Given the description of an element on the screen output the (x, y) to click on. 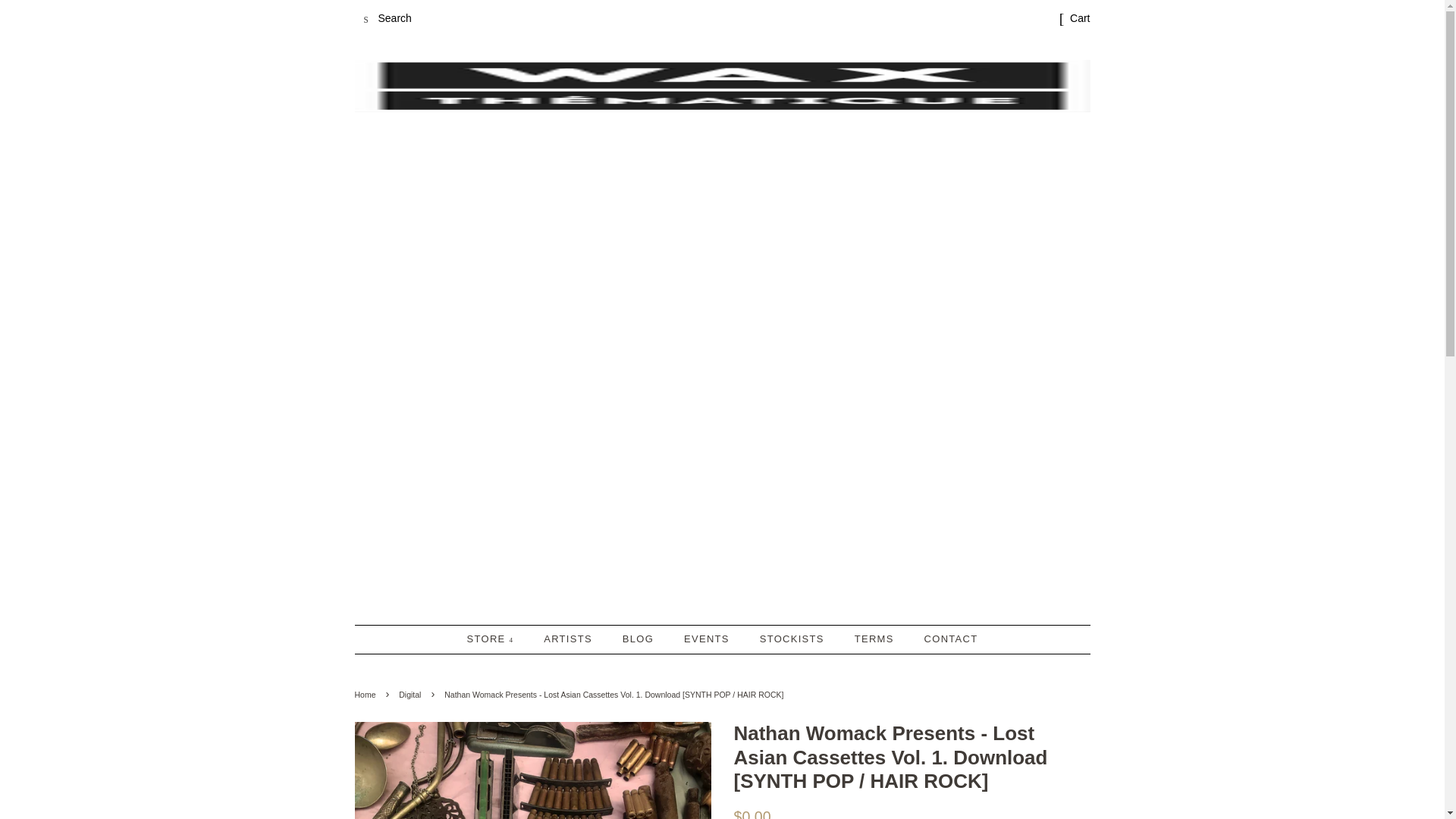
SEARCH (366, 18)
Digital (411, 694)
ARTISTS (569, 638)
CONTACT (945, 638)
Home (367, 694)
Back to the frontpage (367, 694)
TERMS (875, 638)
EVENTS (708, 638)
BLOG (639, 638)
STOCKISTS (794, 638)
